Given the description of an element on the screen output the (x, y) to click on. 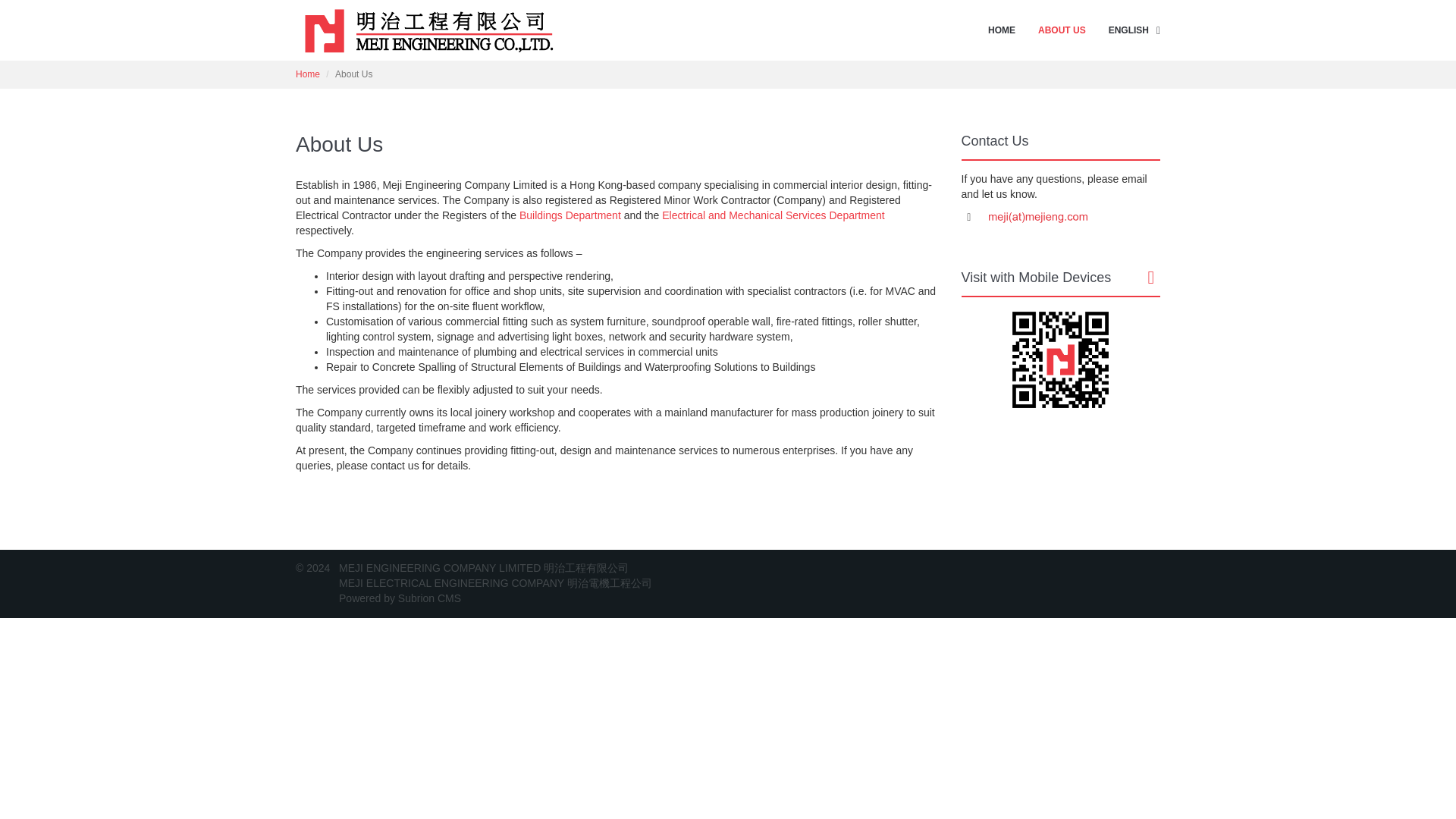
ENGLISH (1128, 30)
Home (307, 73)
ABOUT US (1061, 30)
Electrical and Mechanical Services Department (772, 215)
Buildings Department (570, 215)
